Given the description of an element on the screen output the (x, y) to click on. 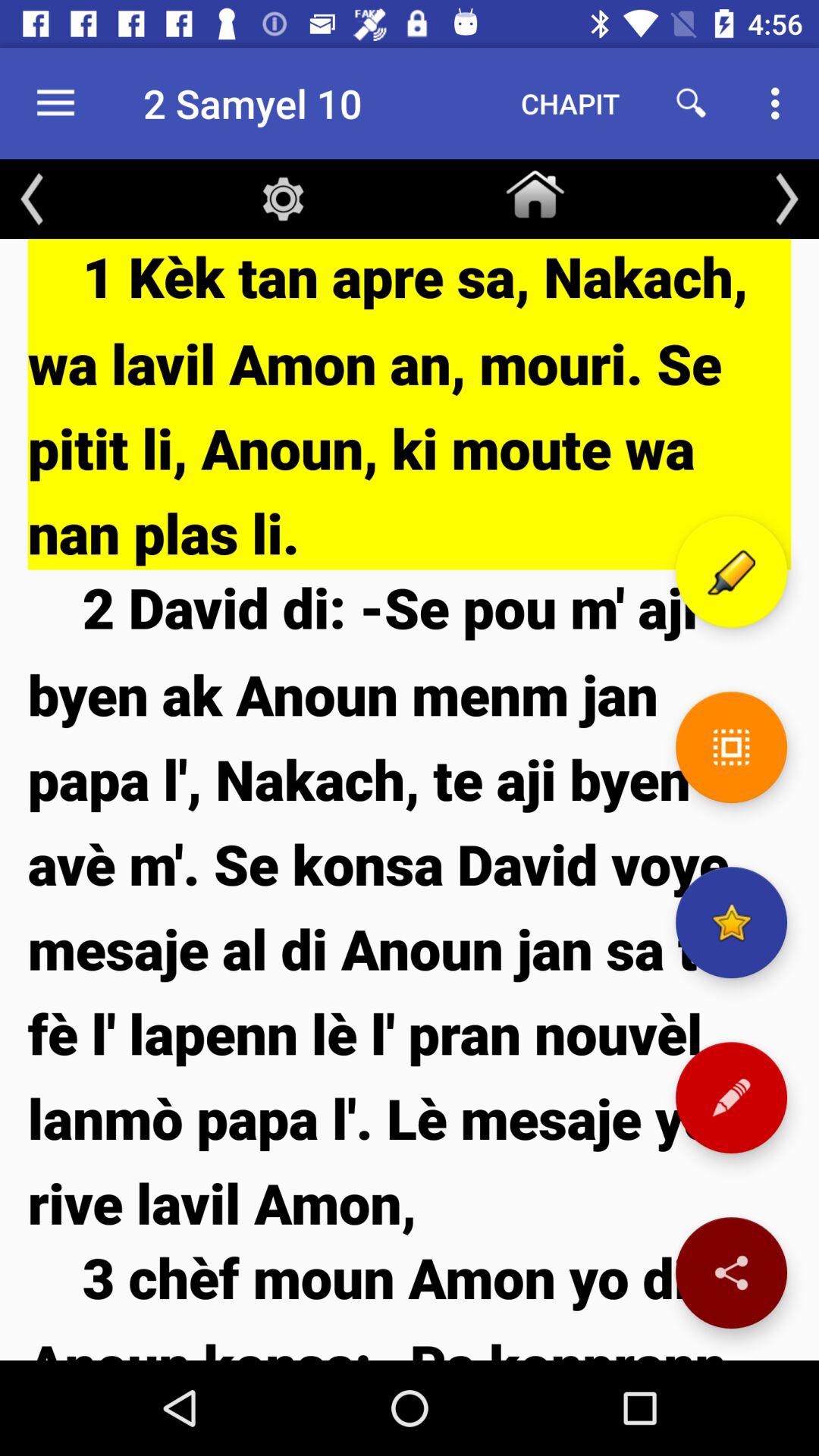
launch the item above 2 david di item (409, 403)
